Given the description of an element on the screen output the (x, y) to click on. 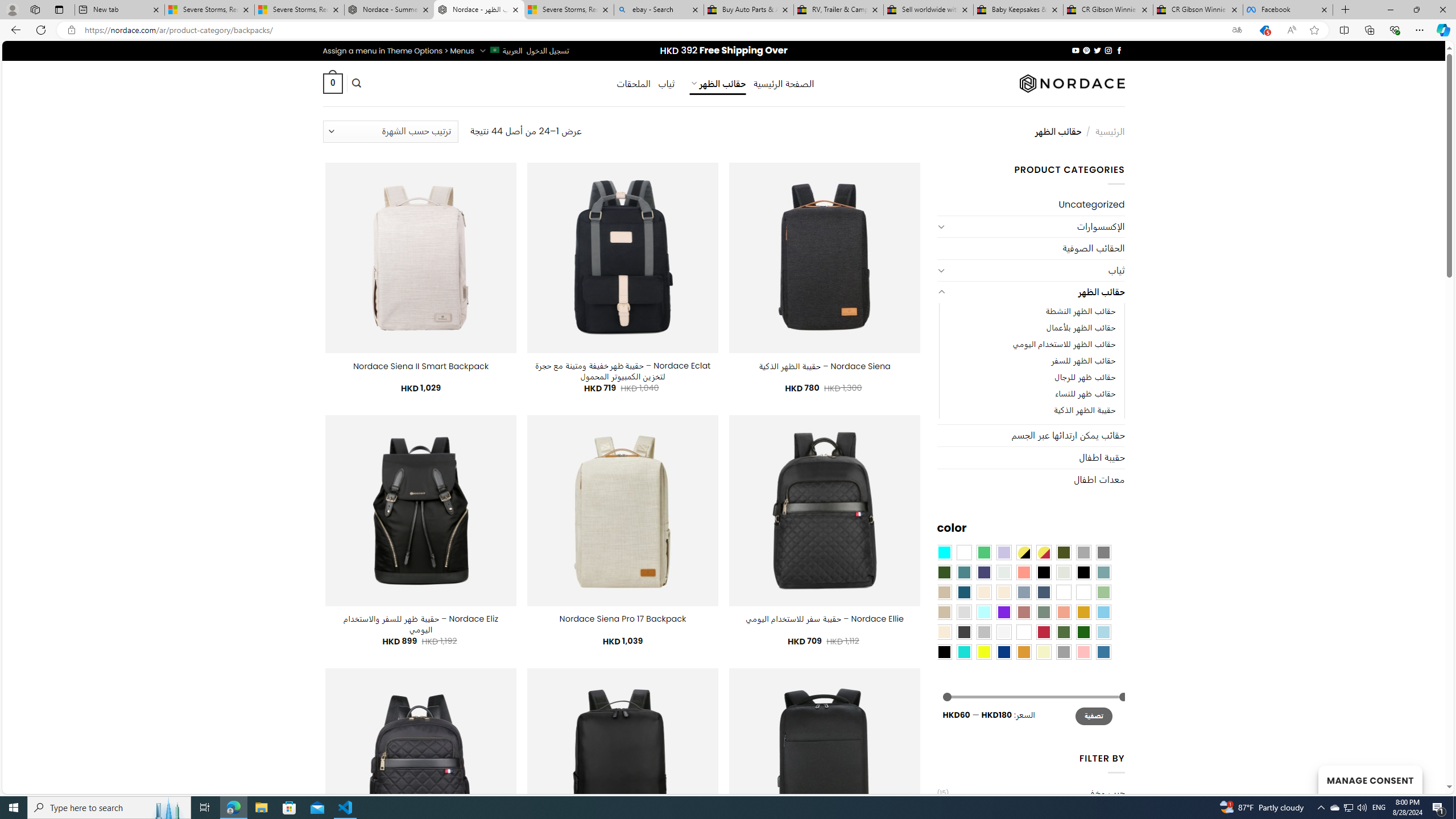
All Black (1043, 572)
Purple (1003, 611)
